Given the description of an element on the screen output the (x, y) to click on. 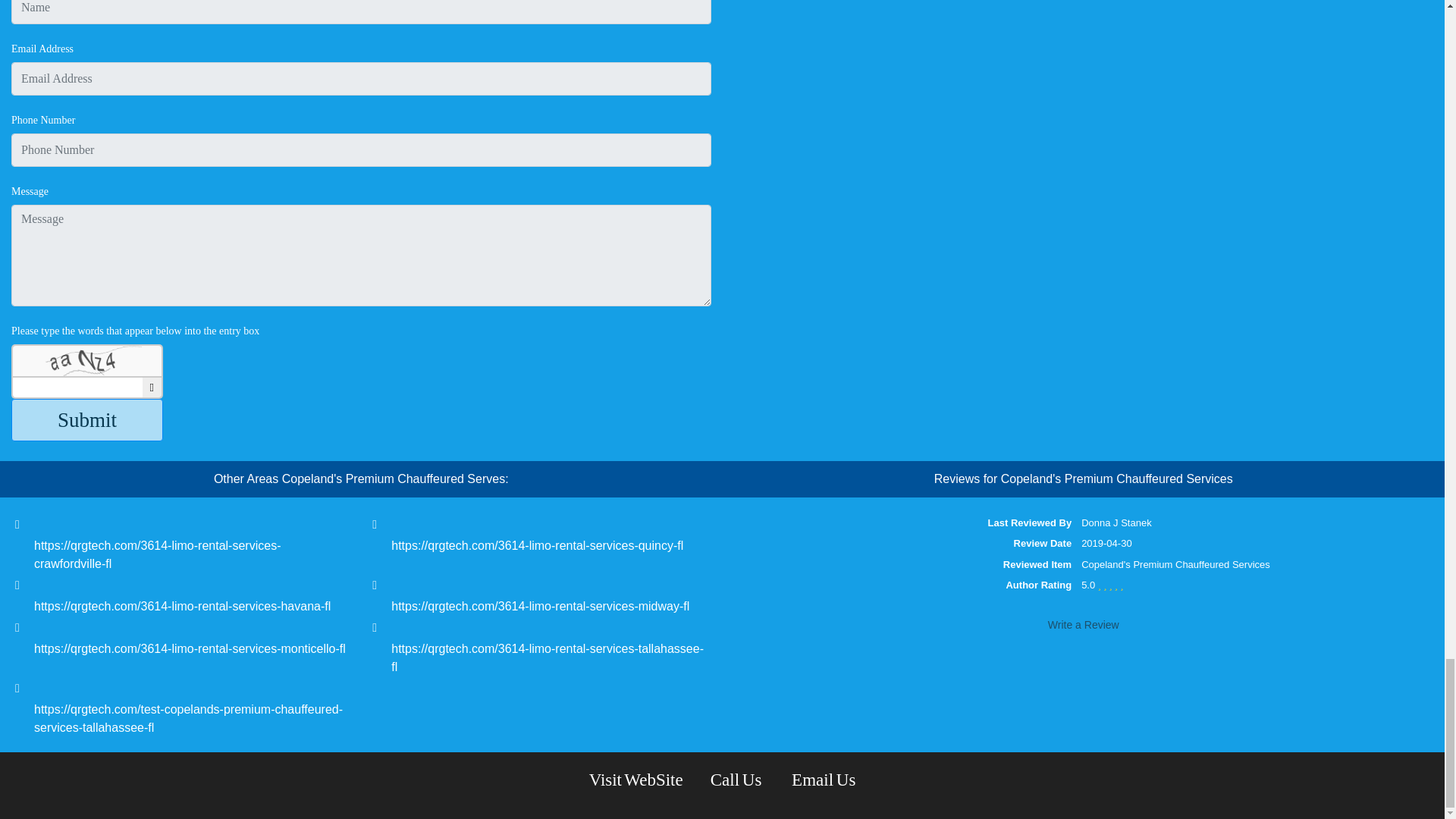
Visit WebSite (636, 779)
Call Us (737, 779)
Write a Review (1083, 625)
Submit (87, 420)
Email Us (823, 779)
